Given the description of an element on the screen output the (x, y) to click on. 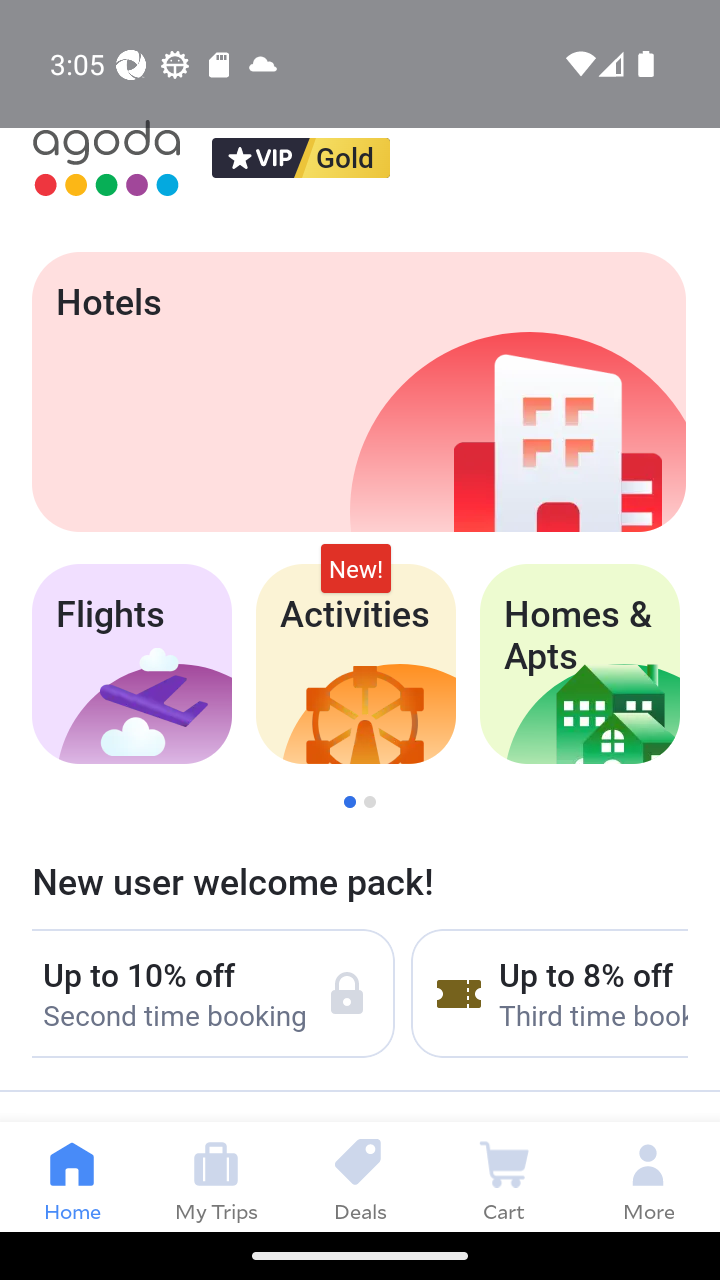
Hotels (358, 392)
New! (355, 568)
Flights (131, 664)
Activities (355, 664)
Homes & Apts (579, 664)
Home (72, 1176)
My Trips (216, 1176)
Deals (360, 1176)
Cart (504, 1176)
More (648, 1176)
